Given the description of an element on the screen output the (x, y) to click on. 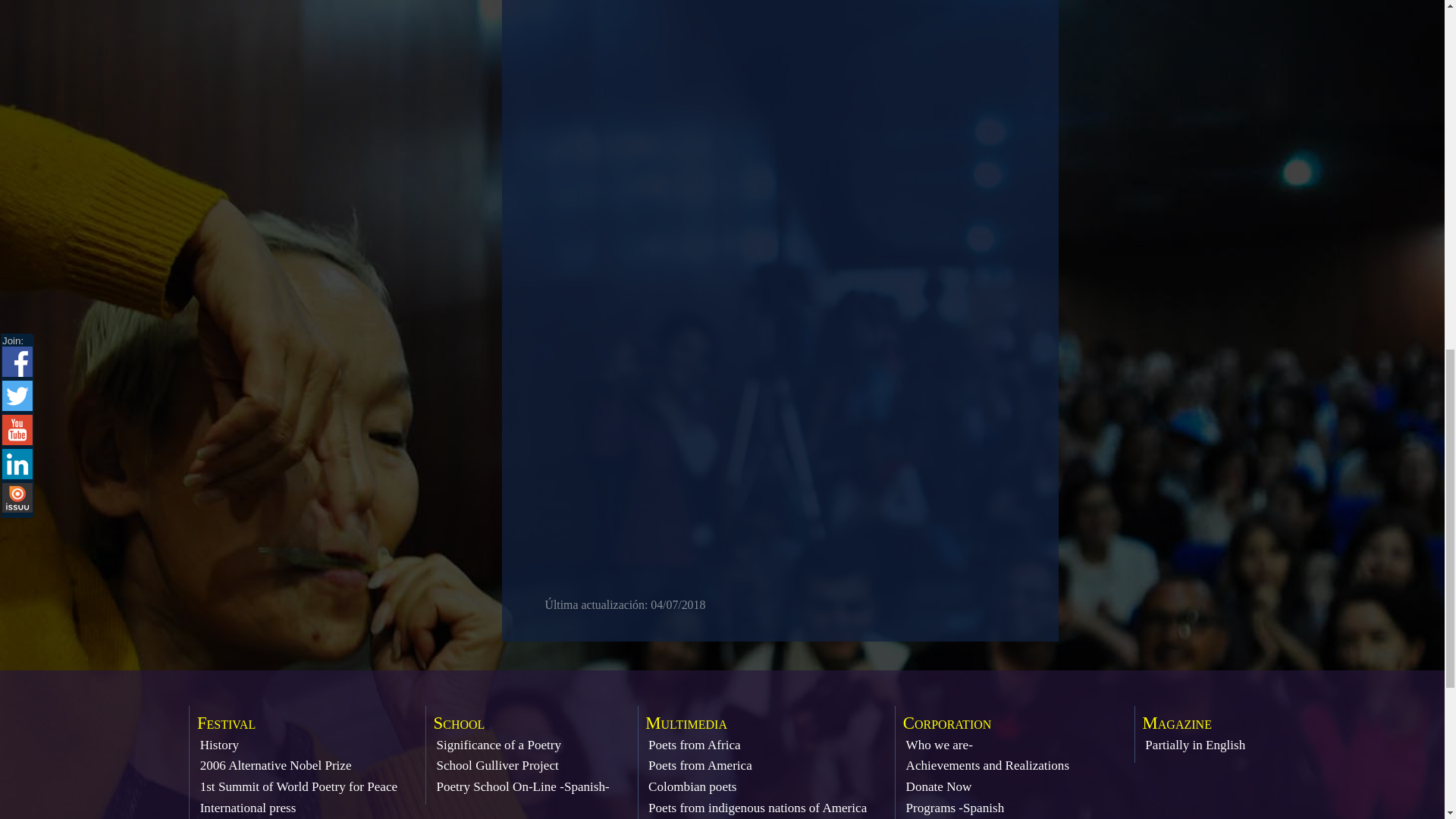
1st Summit of World Poetry for Peace (298, 786)
Festival (226, 722)
History (219, 744)
International press (248, 807)
2006 Alternative Nobel Prize (276, 765)
